Given the description of an element on the screen output the (x, y) to click on. 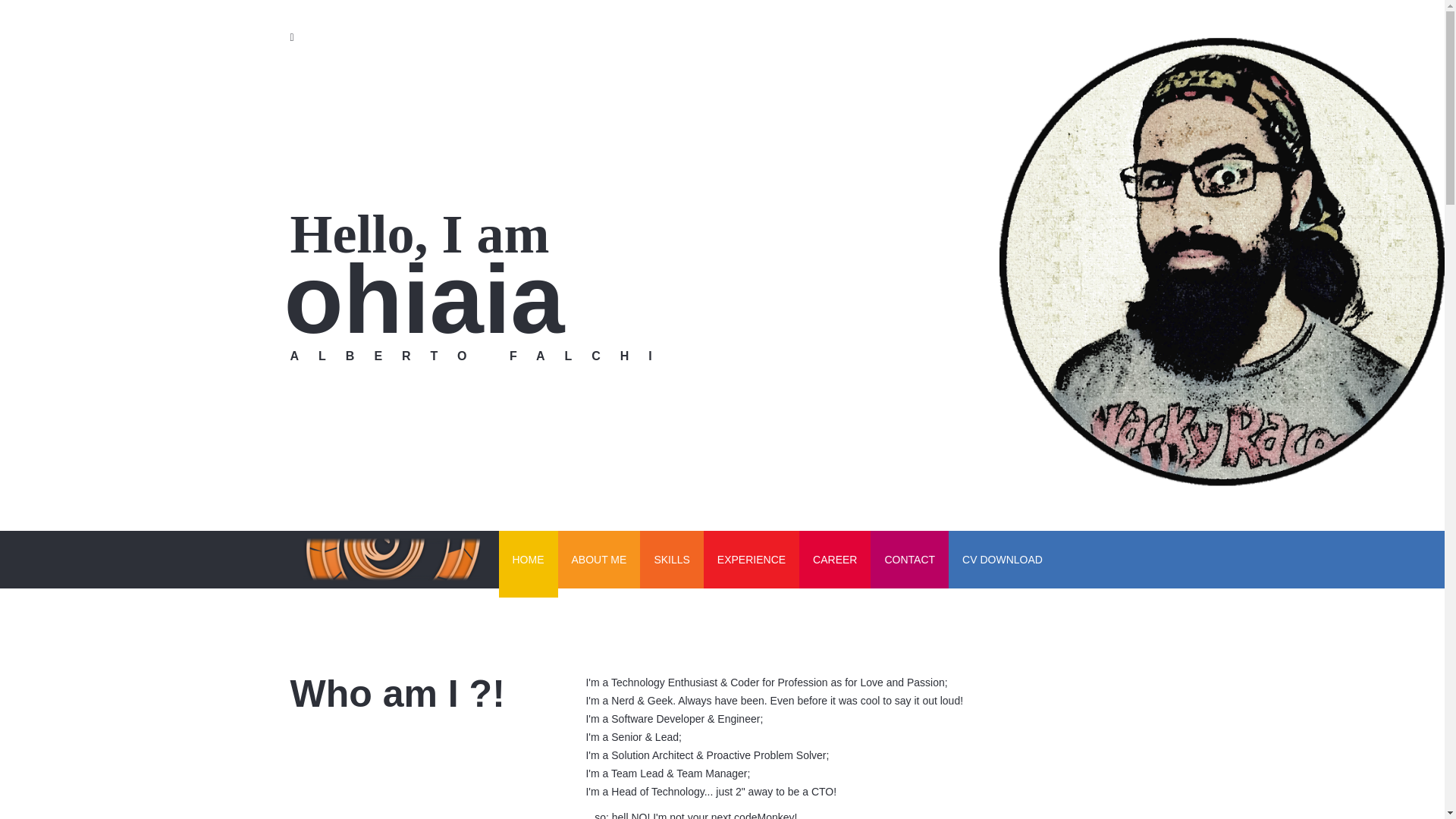
HOME (528, 563)
CONTACT (909, 559)
EXPERIENCE (751, 559)
CONTACT (909, 559)
EXPERIENCE (751, 559)
ABOUT ME (598, 559)
CAREER (834, 559)
CV DOWNLOAD (1003, 559)
CV DOWNLOAD (1003, 559)
HOME (528, 563)
CAREER (834, 559)
SKILLS (671, 559)
ABOUT ME (598, 559)
SKILLS (671, 559)
